Given the description of an element on the screen output the (x, y) to click on. 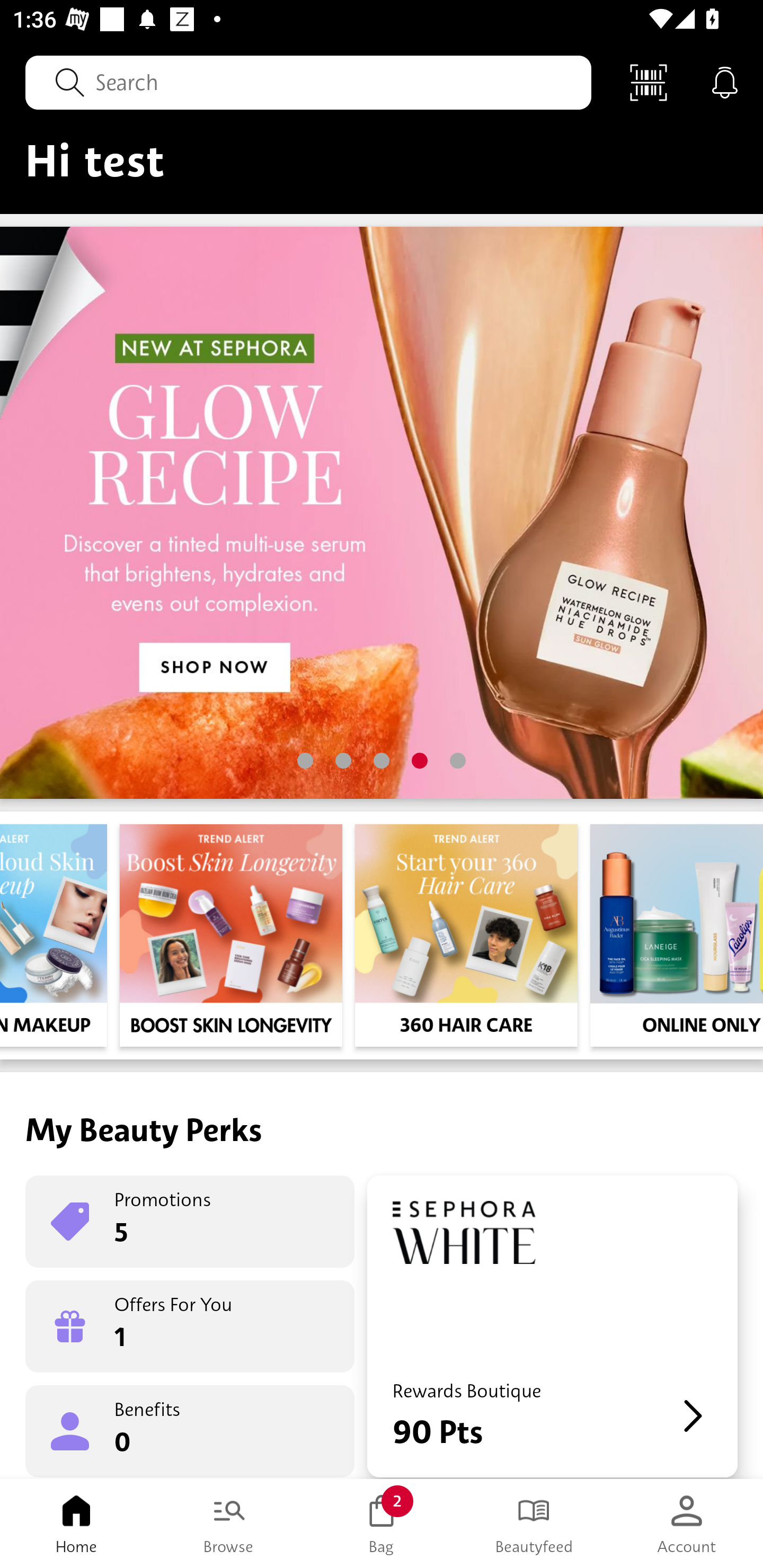
Scan Code (648, 81)
Notifications (724, 81)
Search (308, 81)
Promotions 5 (189, 1221)
Rewards Boutique 90 Pts (552, 1326)
Offers For You 1 (189, 1326)
Benefits 0 (189, 1430)
Browse (228, 1523)
Bag 2 Bag (381, 1523)
Beautyfeed (533, 1523)
Account (686, 1523)
